Given the description of an element on the screen output the (x, y) to click on. 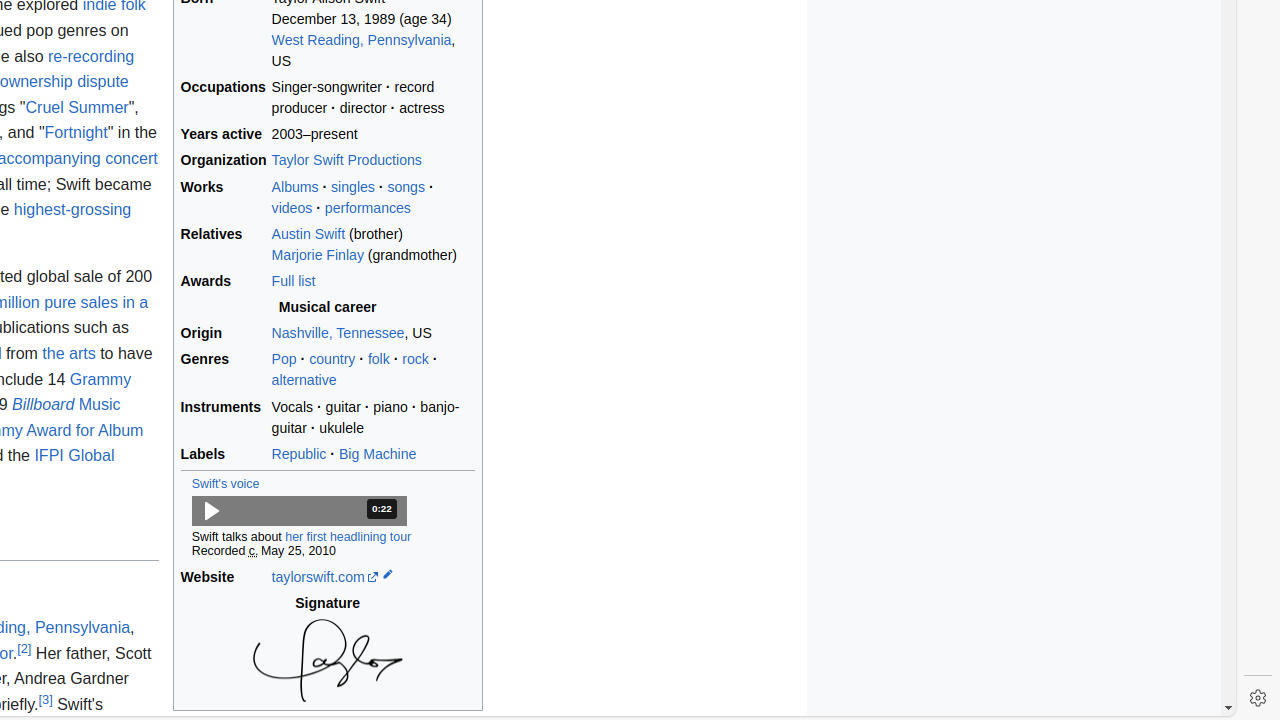
Swift's voice Element type: link (225, 483)
Albums Element type: link (295, 186)
singles Element type: link (353, 186)
performances Element type: link (367, 207)
Pop Element type: link (284, 359)
